Given the description of an element on the screen output the (x, y) to click on. 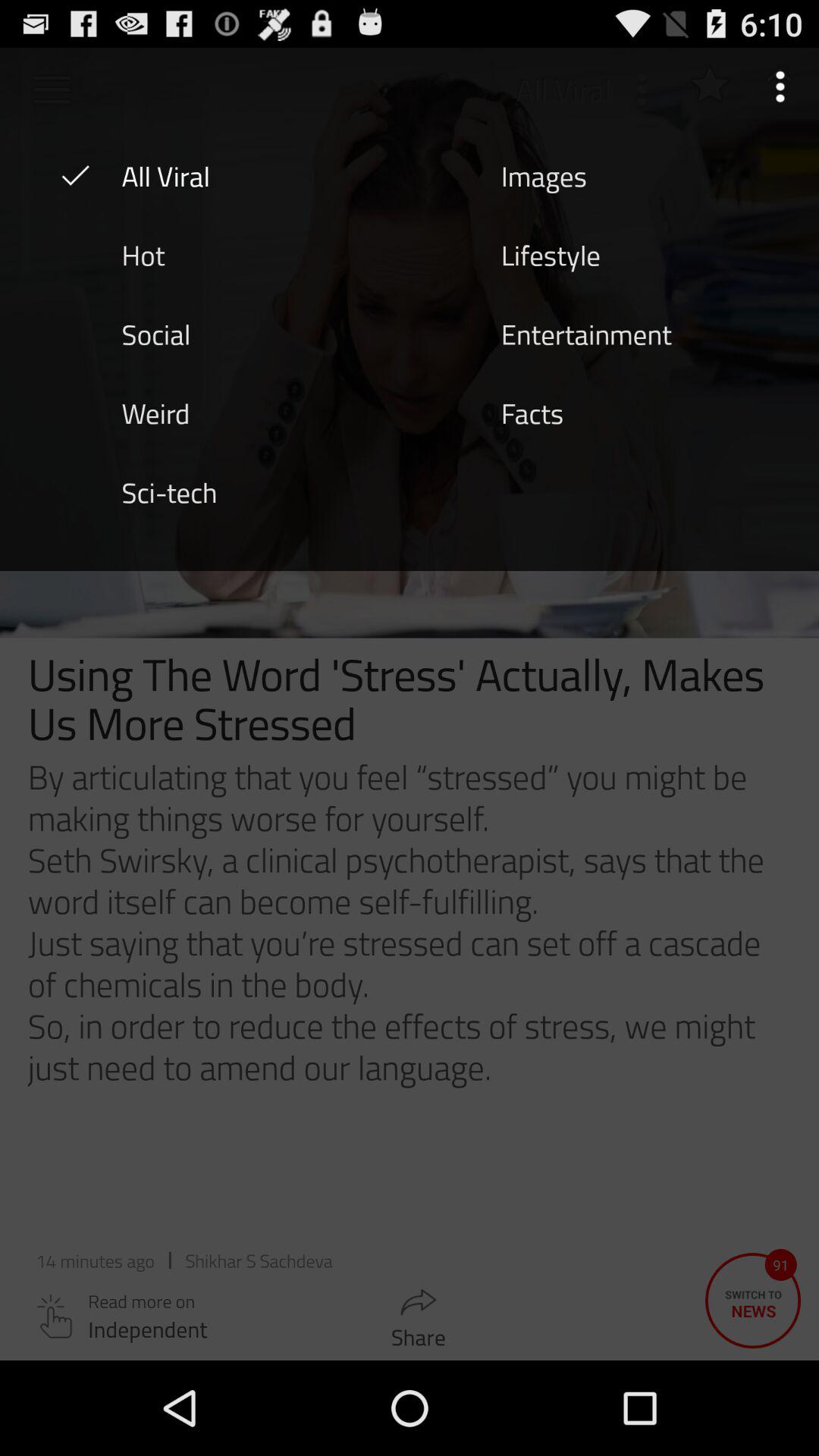
select the icon above the weird icon (155, 332)
